Given the description of an element on the screen output the (x, y) to click on. 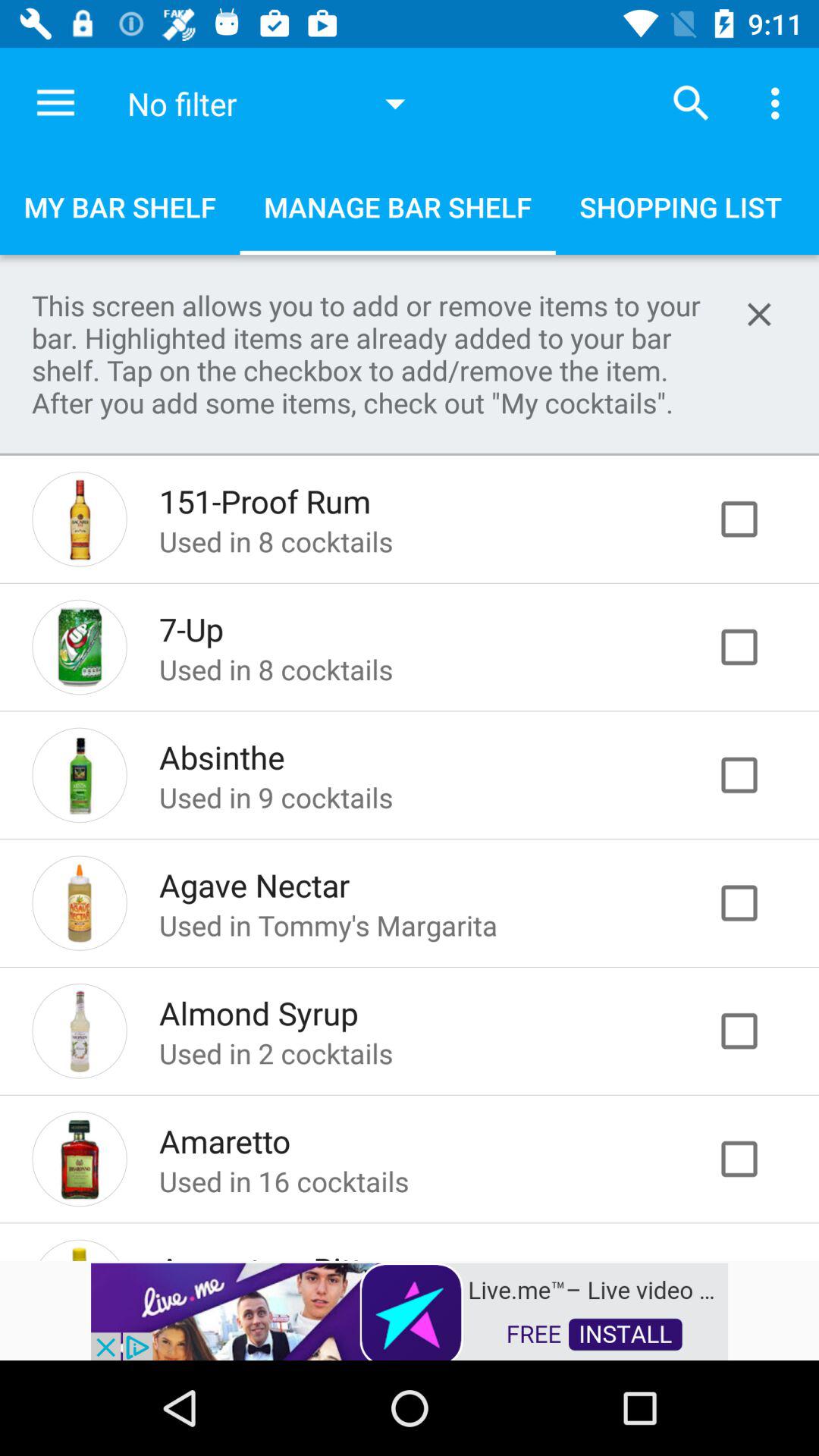
select the box (755, 902)
